Given the description of an element on the screen output the (x, y) to click on. 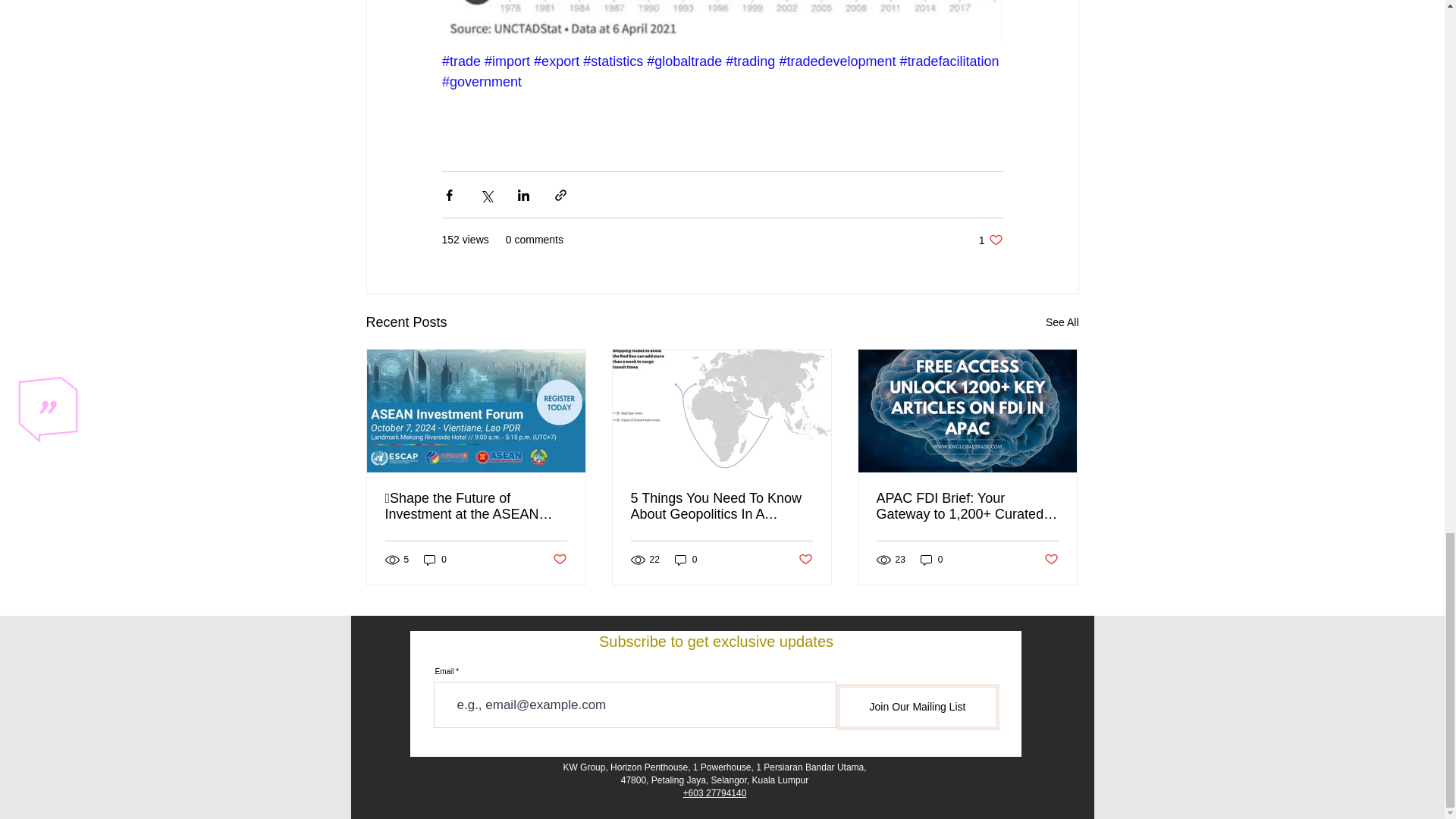
Post not marked as liked (804, 560)
See All (1061, 322)
0 (685, 559)
0 (435, 559)
Post not marked as liked (558, 560)
